Given the description of an element on the screen output the (x, y) to click on. 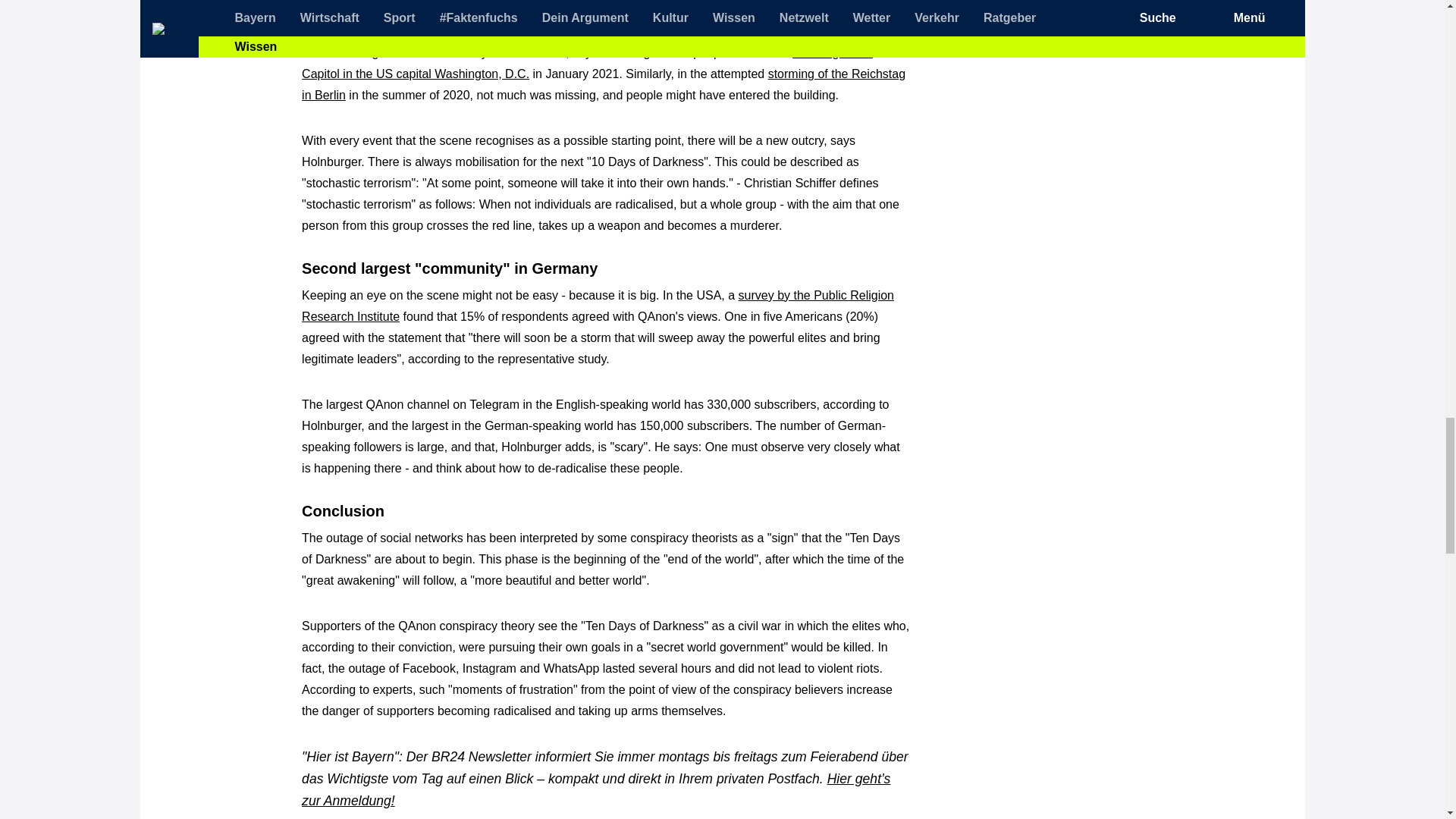
storming of the Reichstag in Berlin (603, 84)
survey by the Public Religion Research Institute (597, 305)
storming of the Capitol in the US capital Washington, D.C. (586, 62)
